Given the description of an element on the screen output the (x, y) to click on. 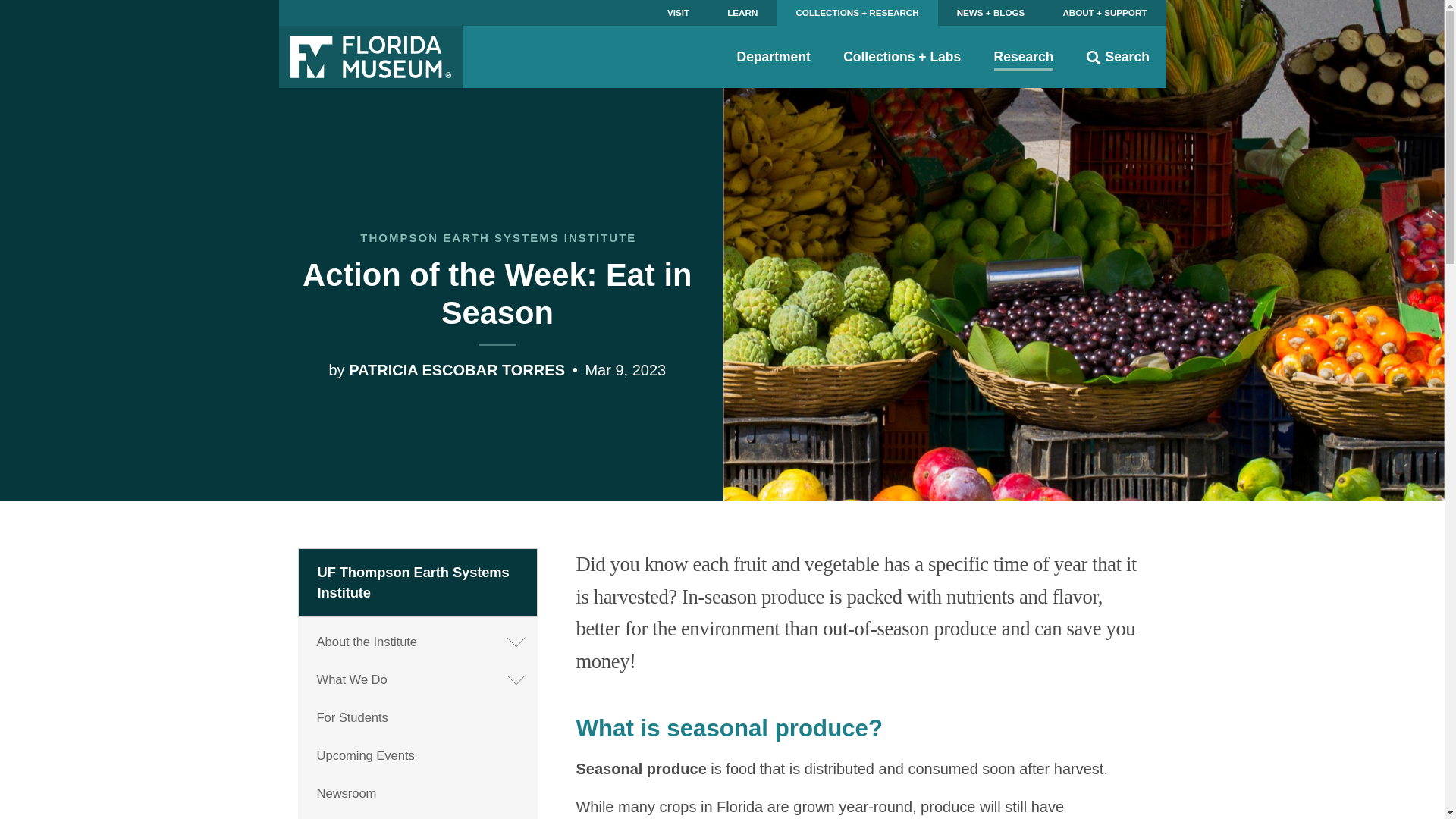
VISIT (677, 12)
Department (773, 56)
About the Institute (418, 641)
What We Do (418, 679)
Florida Museum (371, 56)
Search (1118, 56)
Research (1024, 56)
LEARN (741, 12)
UF Thompson Earth Systems Institute (418, 581)
